Given the description of an element on the screen output the (x, y) to click on. 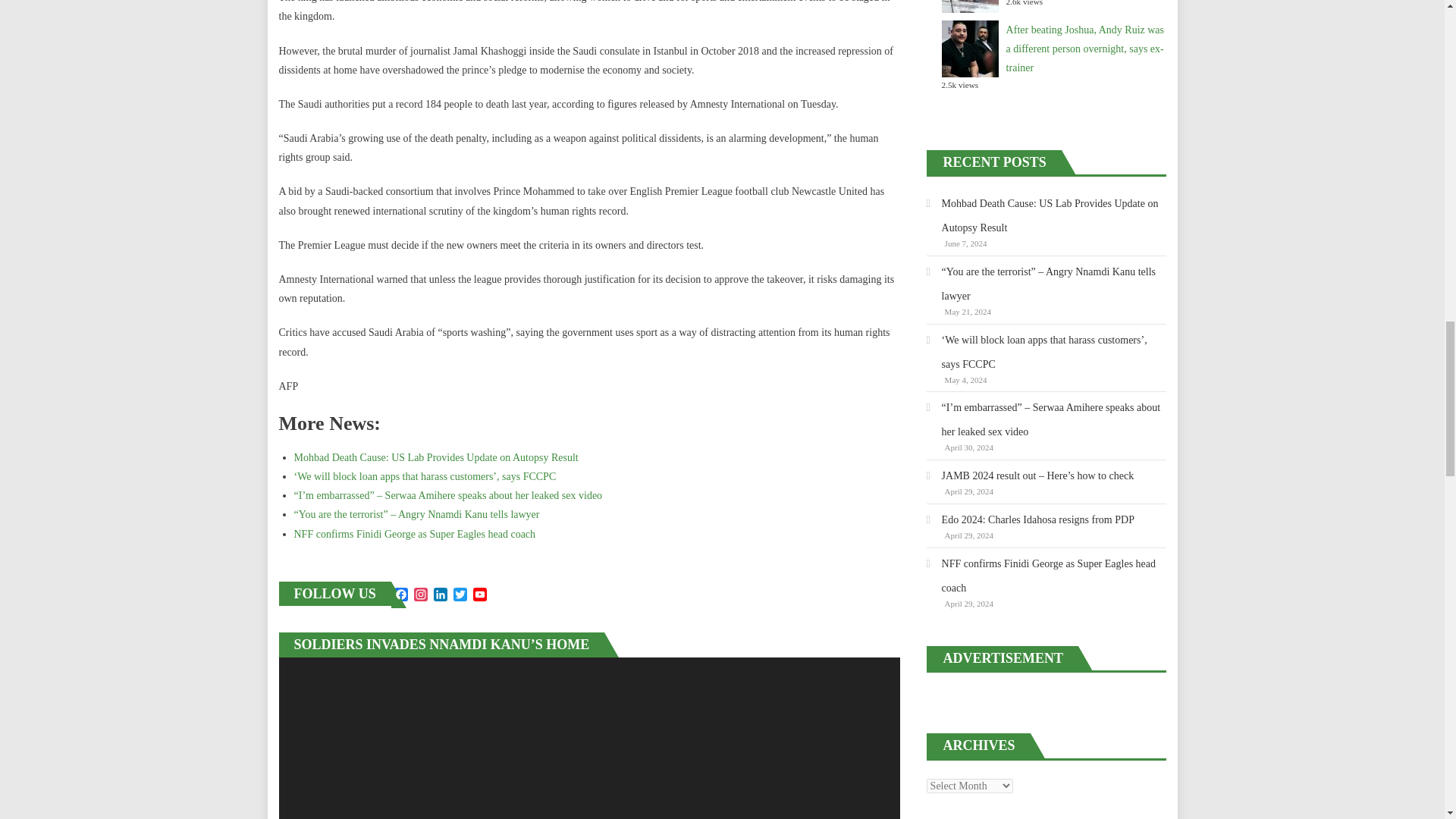
LinkedIn (439, 595)
Facebook (400, 595)
Instagram (420, 595)
Twitter (459, 595)
YouTube Channel (479, 595)
